Given the description of an element on the screen output the (x, y) to click on. 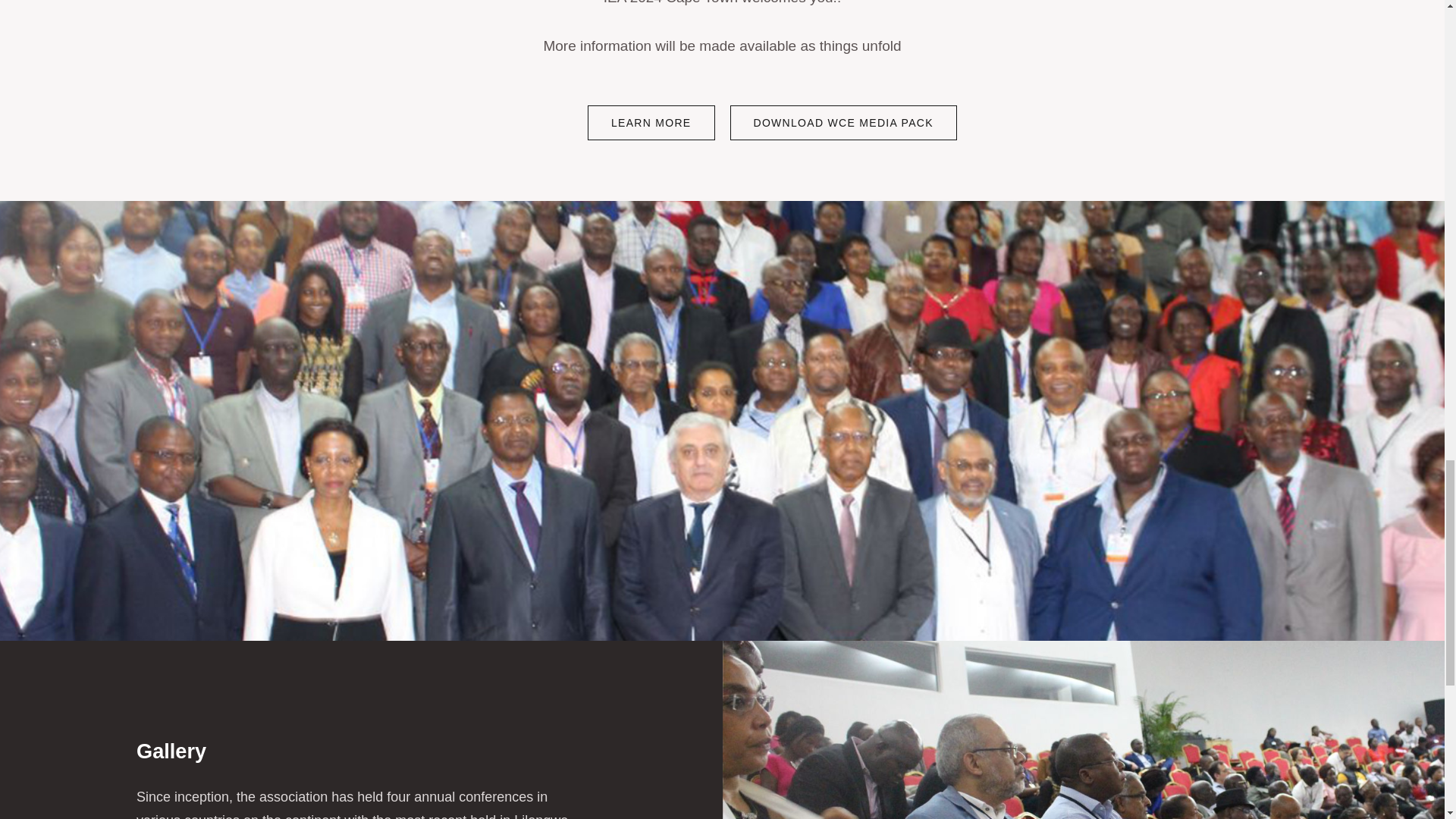
DOWNLOAD WCE MEDIA PACK (842, 122)
LEARN MORE (651, 122)
